Given the description of an element on the screen output the (x, y) to click on. 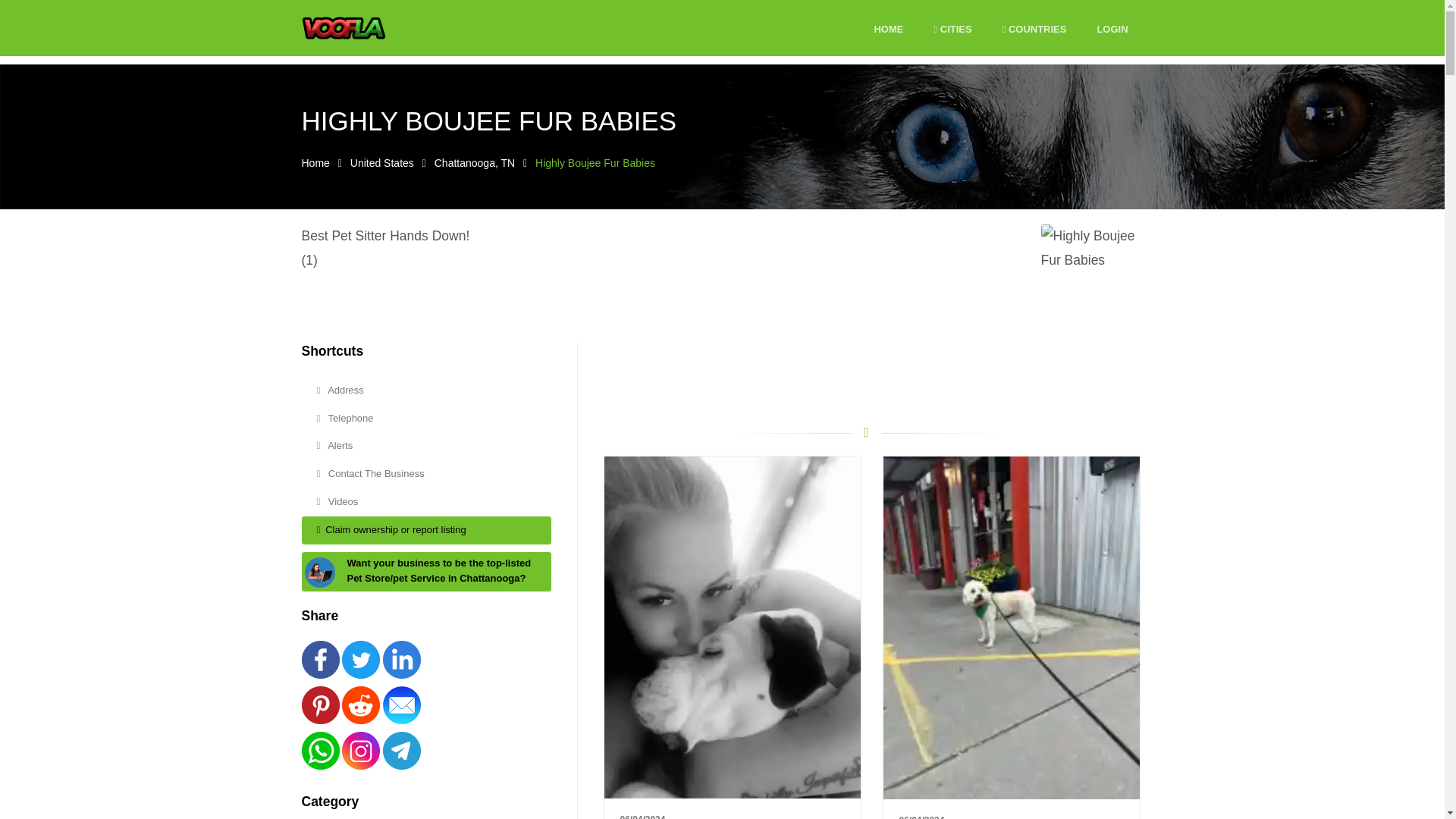
Claim ownership or report listing (426, 530)
Telephone (426, 418)
Address (426, 390)
HOME (887, 29)
Advertisement (865, 376)
Videos (426, 502)
Contact The Business (426, 474)
Chattanooga, TN (474, 162)
Alerts (426, 446)
Home (315, 162)
